Given the description of an element on the screen output the (x, y) to click on. 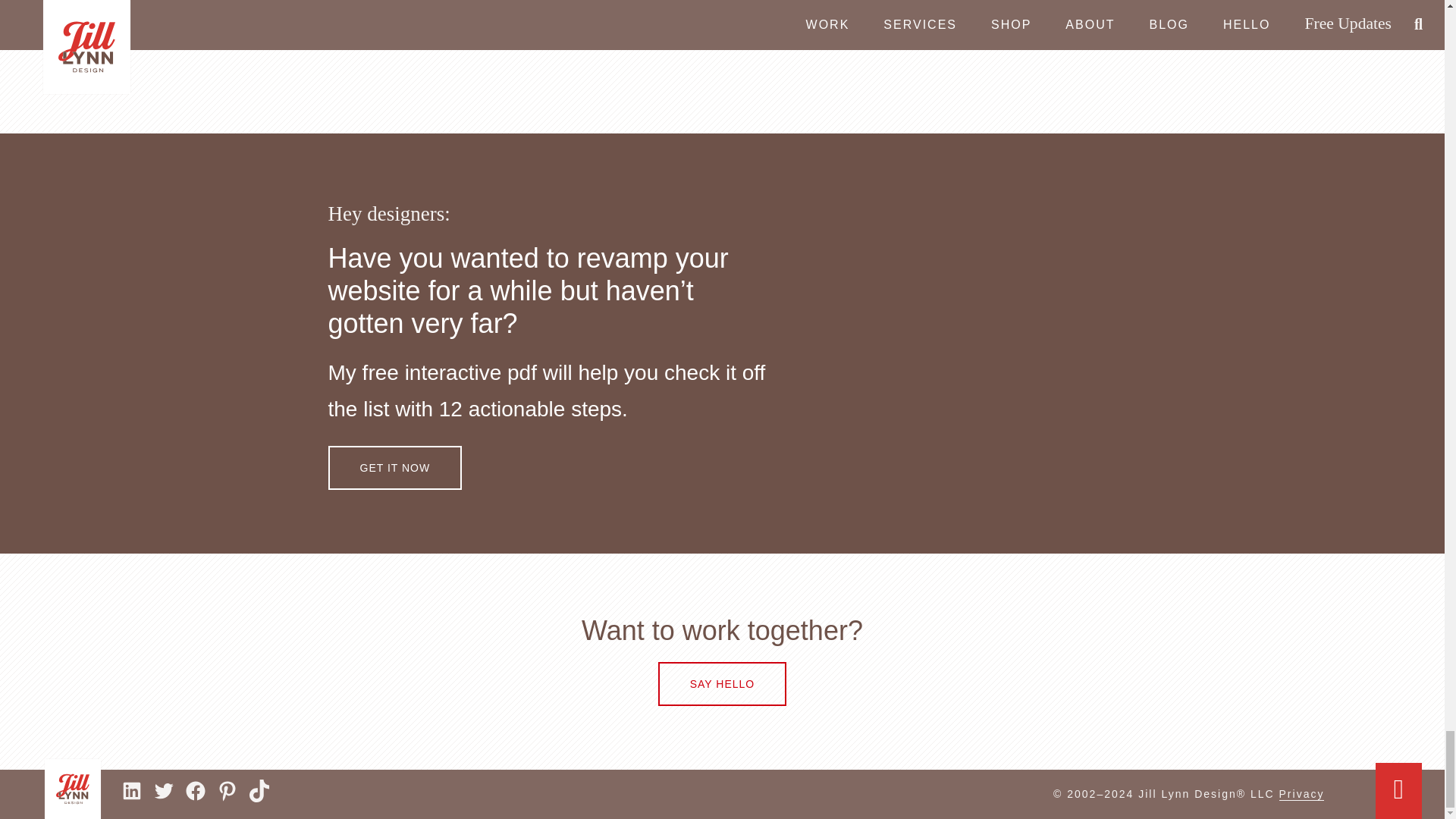
GET IT NOW (394, 467)
Facebook (195, 790)
LinkedIn (131, 790)
Twitter (163, 790)
Privacy (1301, 793)
TikTok (258, 790)
Pinterest (226, 790)
SAY HELLO (722, 683)
